Given the description of an element on the screen output the (x, y) to click on. 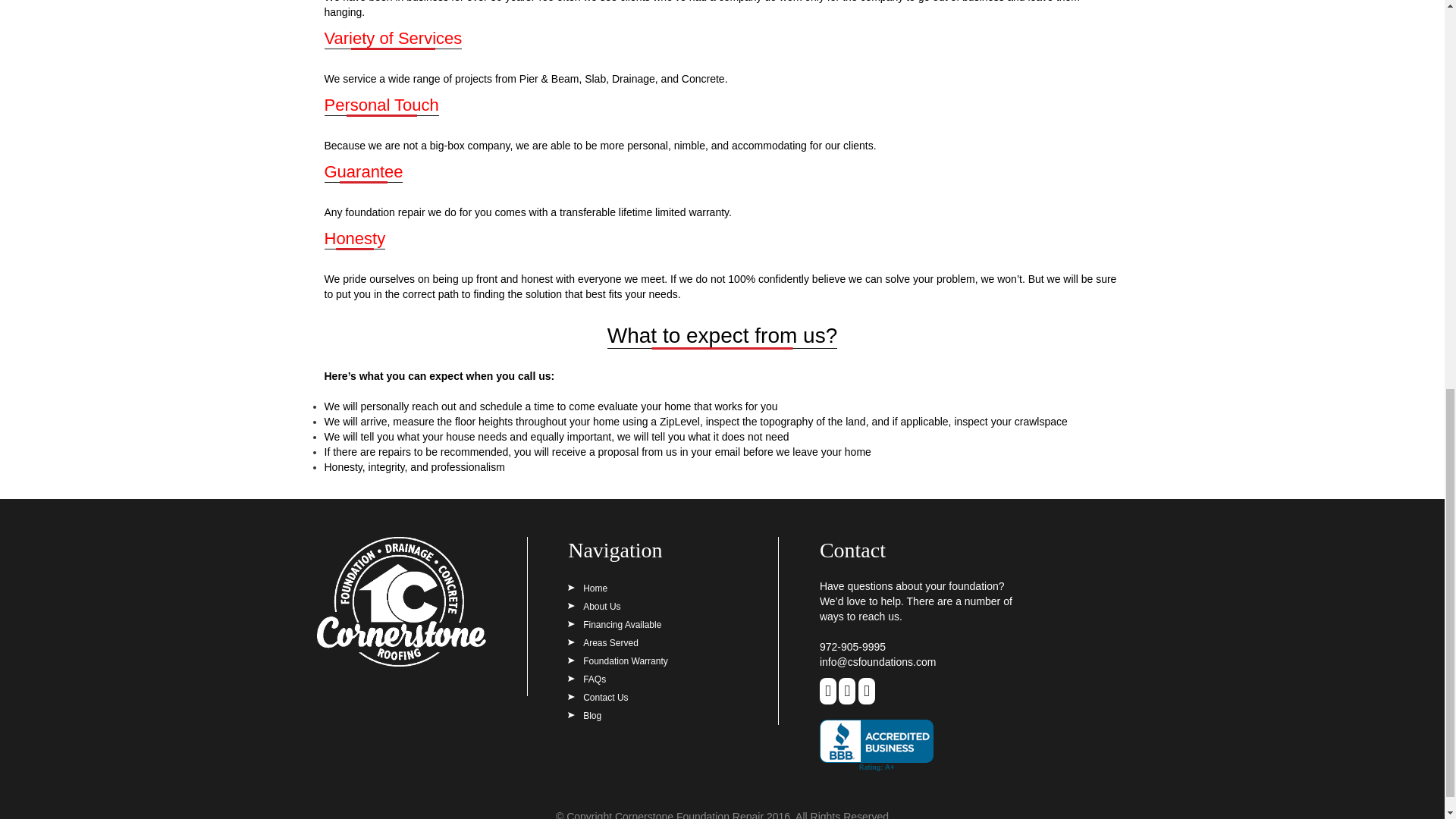
Drainage (633, 78)
About Us (593, 606)
Financing Available (614, 624)
Contact Us (597, 697)
Blog (584, 715)
Areas Served (603, 643)
Home (587, 588)
FAQs (586, 679)
Slab (595, 78)
Foundation Warranty (617, 661)
